Given the description of an element on the screen output the (x, y) to click on. 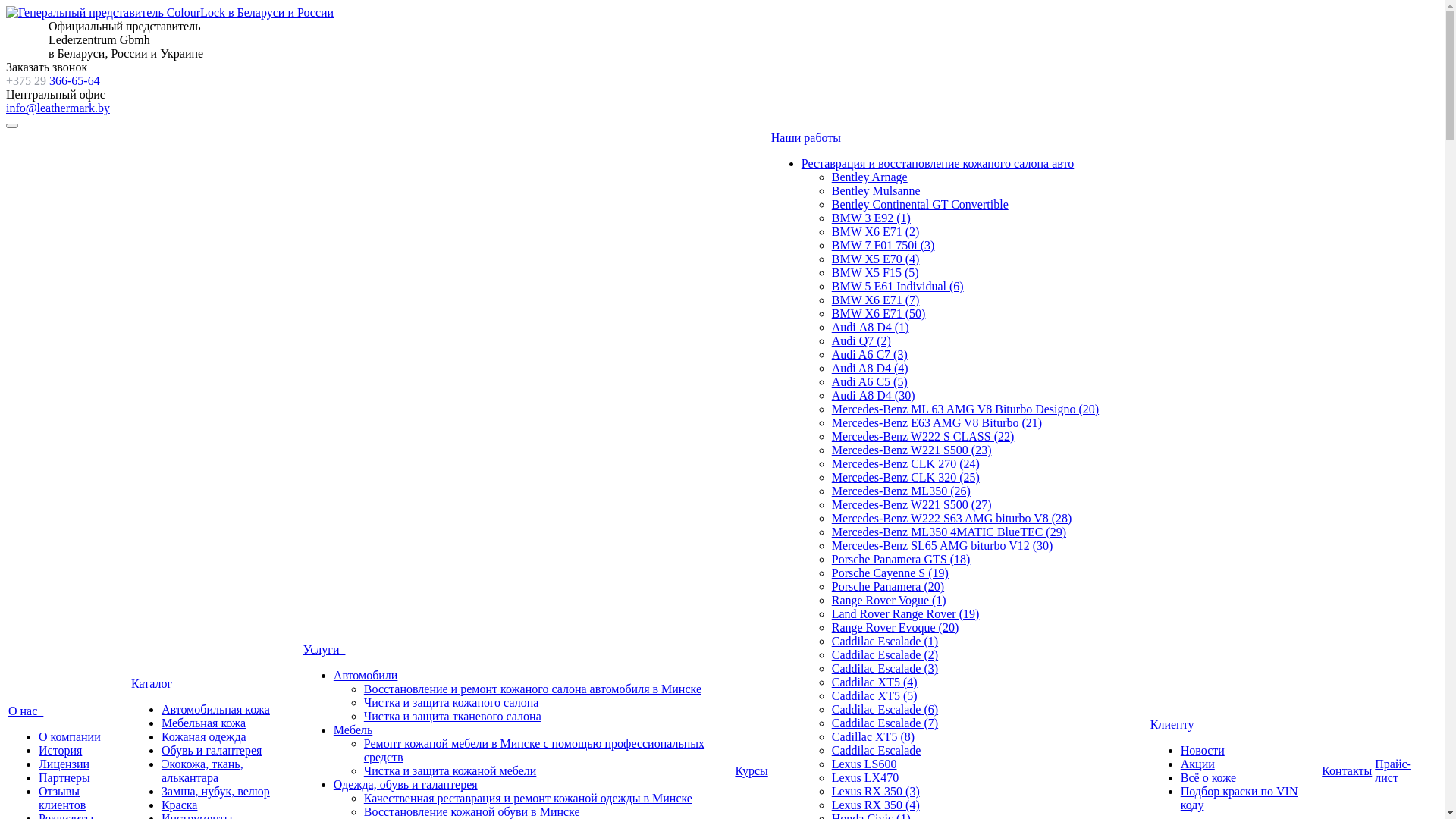
Lexus LS600 Element type: text (864, 763)
Porsche Panamera (20) Element type: text (887, 586)
BMW 5 E61 Individual (6) Element type: text (897, 285)
+375 29 366-65-64 Element type: text (53, 80)
Mercedes-Benz CLK 270 (24) Element type: text (905, 463)
Mercedes-Benz E63 AMG V8 Biturbo (21) Element type: text (936, 422)
Porsche Cayenne S (19) Element type: text (889, 572)
Lexus LX470 Element type: text (864, 777)
Caddilac Escalade Element type: text (876, 749)
Audi A8 D4 (4) Element type: text (869, 367)
Caddilac Escalade (6) Element type: text (884, 708)
Bentley Mulsanne Element type: text (875, 190)
Audi A6 C7 (3) Element type: text (869, 354)
Audi A6 C5 (5) Element type: text (869, 381)
Range Rover Vogue (1) Element type: text (888, 599)
BMW X6 E71 (2) Element type: text (875, 231)
Mercedes-Benz ML350 4MATIC BlueTEC (29) Element type: text (948, 531)
Caddilac Escalade (2) Element type: text (884, 654)
Mercedes-Benz CLK 320 (25) Element type: text (905, 476)
BMW X6 E71 (50) Element type: text (878, 313)
BMW X5 F15 (5) Element type: text (875, 272)
Cadillac XT5 (8) Element type: text (872, 736)
Caddilac Escalade (1) Element type: text (884, 640)
Mercedes-Benz W221 S500 (23) Element type: text (911, 449)
BMW X6 E71 (7) Element type: text (875, 299)
Mercedes-Benz W222 S63 AMG biturbo V8 (28) Element type: text (951, 517)
Porsche Panamera GTS (18) Element type: text (900, 558)
Caddilac Escalade (7) Element type: text (884, 722)
Mercedes-Benz ML350 (26) Element type: text (900, 490)
Land Rover Range Rover (19) Element type: text (905, 613)
Range Rover Evoque (20) Element type: text (895, 627)
BMW 3 E92 (1) Element type: text (870, 217)
BMW 7 F01 750i (3) Element type: text (883, 244)
Audi Q7 (2) Element type: text (861, 340)
Lexus RX 350 (4) Element type: text (875, 804)
Lexus RX 350 (3) Element type: text (875, 790)
Caddilac Escalade (3) Element type: text (884, 668)
Mercedes-Benz SL65 AMG biturbo V12 (30) Element type: text (942, 545)
Mercedes-Benz W221 S500 (27) Element type: text (911, 504)
Bentley Arnage Element type: text (869, 176)
Mercedes-Benz W222 S CLASS (22) Element type: text (922, 435)
Bentley Continental GT Convertible Element type: text (919, 203)
Mercedes-Benz ML 63 AMG V8 Biturbo Designo (20) Element type: text (964, 408)
info@leathermark.by Element type: text (57, 107)
